Given the description of an element on the screen output the (x, y) to click on. 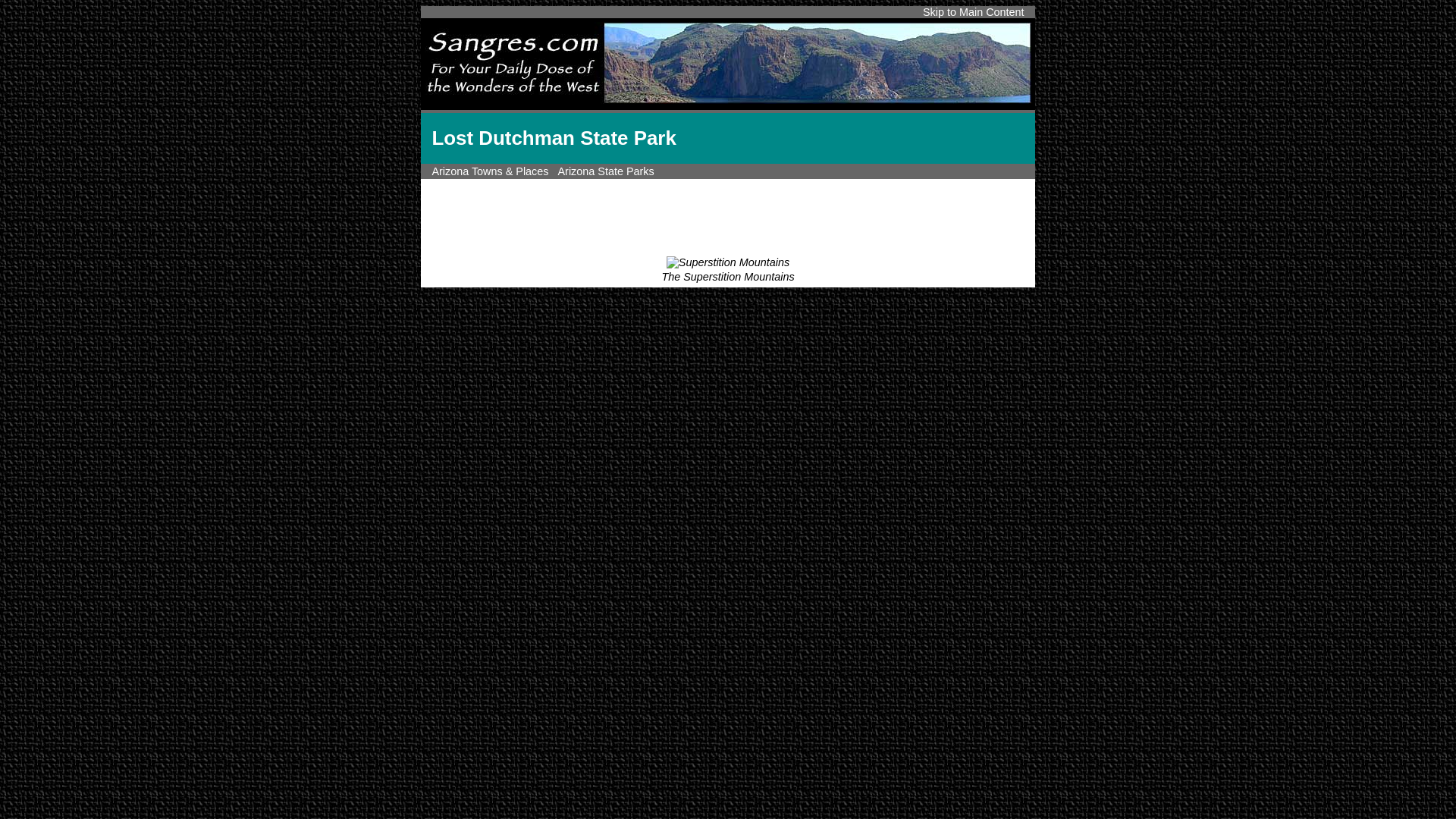
Arizona Information, Photos and Maps (489, 171)
Arizona State Parks (605, 171)
Superstition Mountains (727, 262)
Skip to Main Content (974, 11)
Arizona State Parks (605, 171)
